Given the description of an element on the screen output the (x, y) to click on. 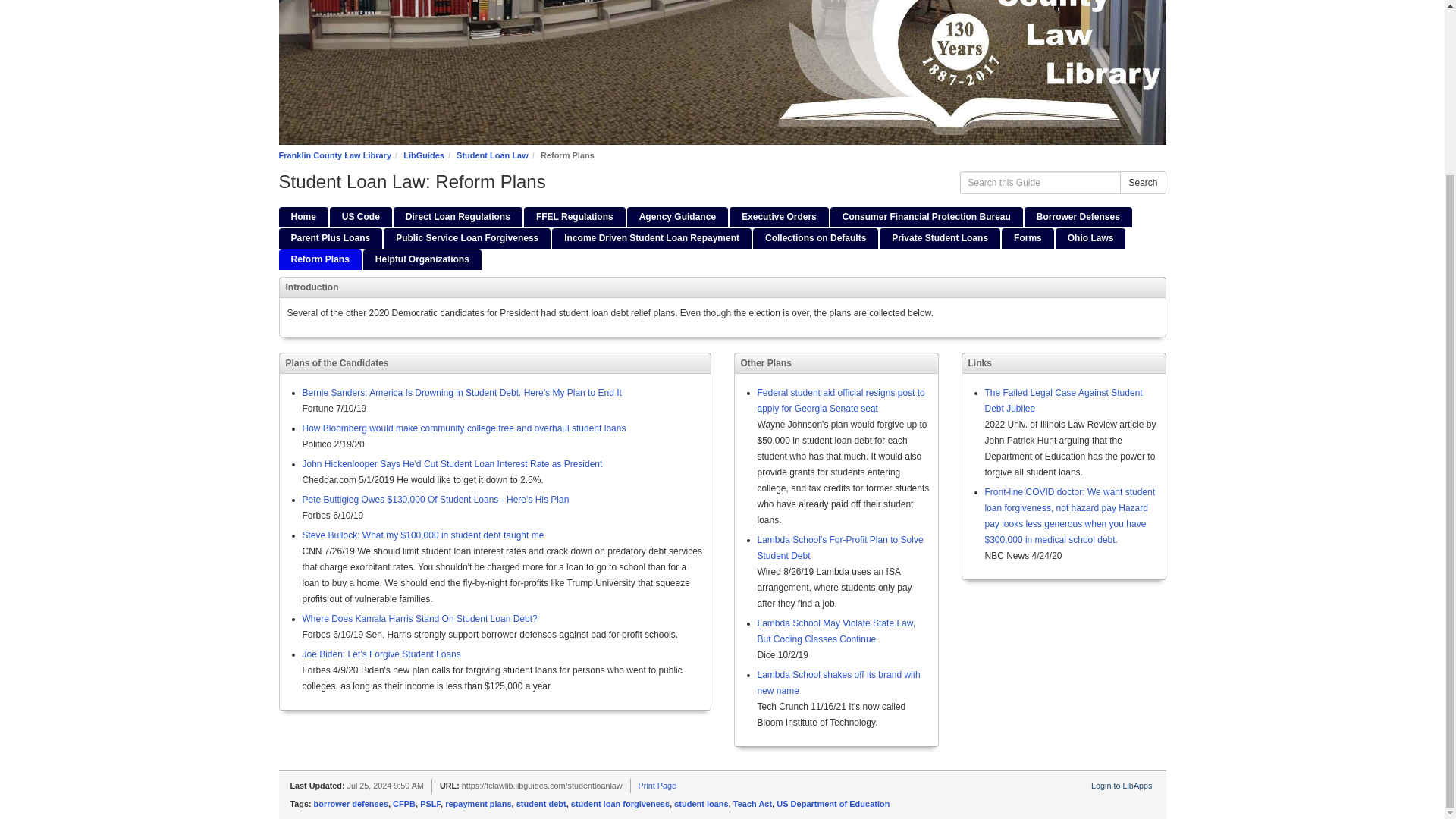
Search (1142, 181)
LibGuides (423, 154)
Lambda School's For-Profit Plan to Solve Student Debt (840, 547)
The Failed Legal Case Against Student Debt Jubilee (1062, 400)
Where Does Kamala Harris Stand On Student Loan Debt? (419, 618)
Direct Loan Regulations (457, 217)
Income Driven Student Loan Repayment (651, 238)
Executive Orders (778, 217)
Borrower Defenses (1078, 217)
Lambda School shakes off its brand with new name (838, 682)
Home (304, 217)
Franklin County Law Library (335, 154)
